Given the description of an element on the screen output the (x, y) to click on. 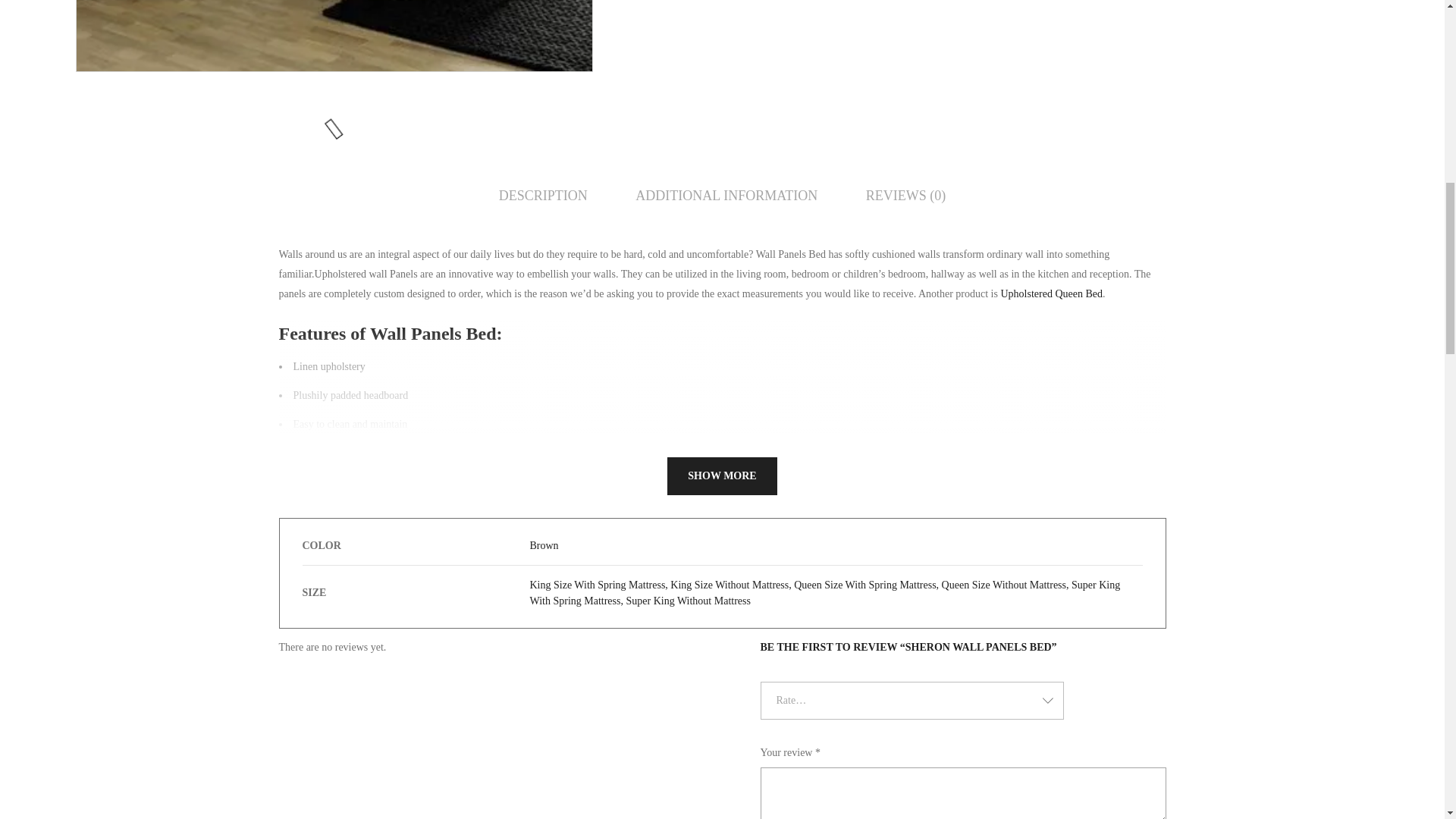
Sheron Wall Panels Bed (334, 35)
